Given the description of an element on the screen output the (x, y) to click on. 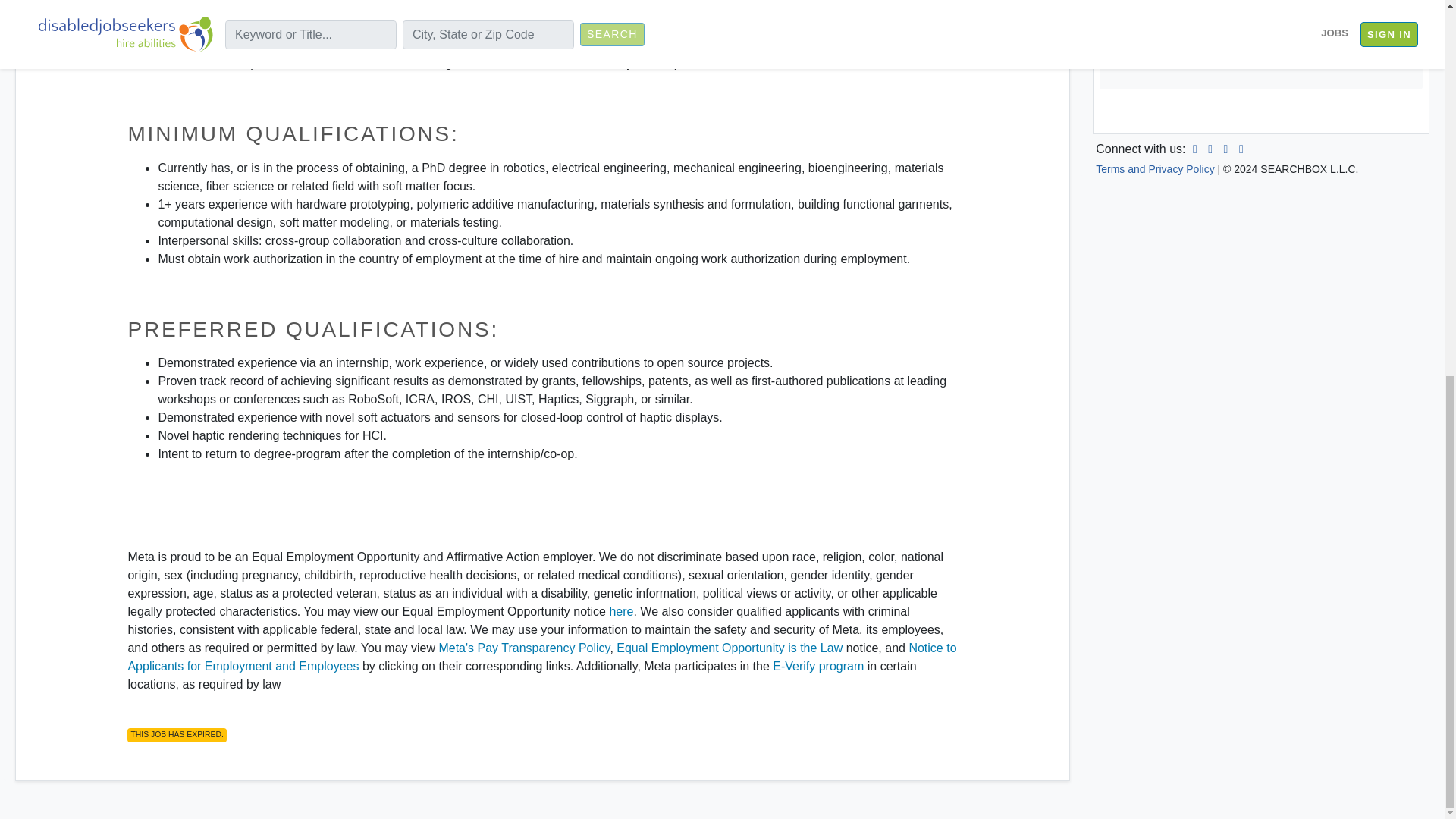
Link to Twitter (1225, 148)
Equal Employment Opportunity is the Law (729, 647)
Terms and Privacy Policy (1260, 52)
E-Verify program (818, 666)
here (620, 611)
Email Disabled Job Seekers (1240, 148)
Terms and Privacy Policy (1155, 168)
Link to Facebook (1209, 148)
Link to LinkedIn (1195, 148)
Notice to Applicants for Employment and Employees (542, 656)
